Given the description of an element on the screen output the (x, y) to click on. 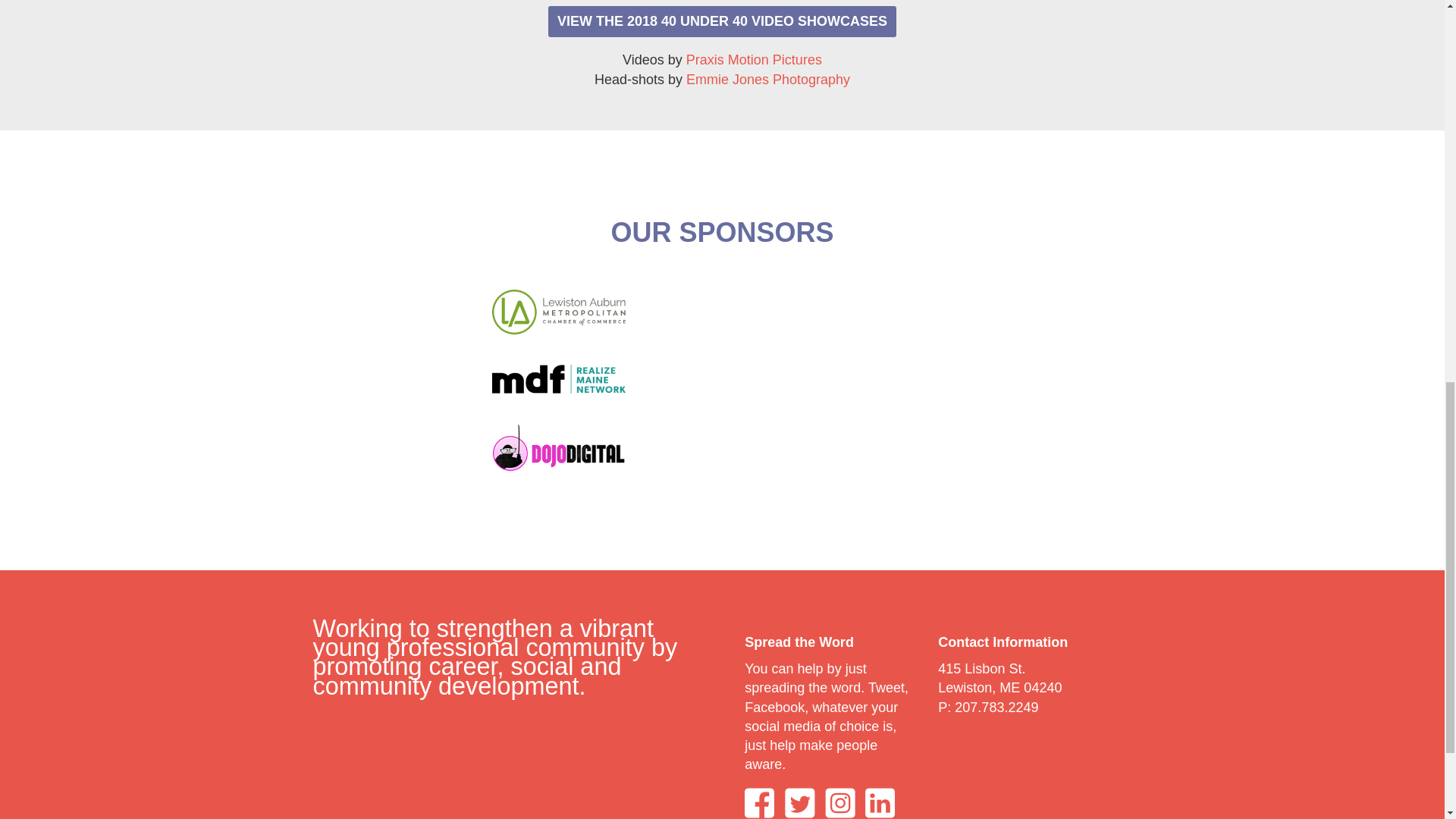
Instagram (840, 802)
LA Metro Chamber (558, 311)
Dojo Digital (558, 447)
Realize Maine Network (558, 379)
Facebook (759, 802)
Linked-In (882, 802)
Twitter (802, 802)
Praxis Motion Pictures (753, 59)
VIEW THE 2018 40 UNDER 40 VIDEO SHOWCASES (722, 20)
Emmie Jones Photography (767, 78)
